Given the description of an element on the screen output the (x, y) to click on. 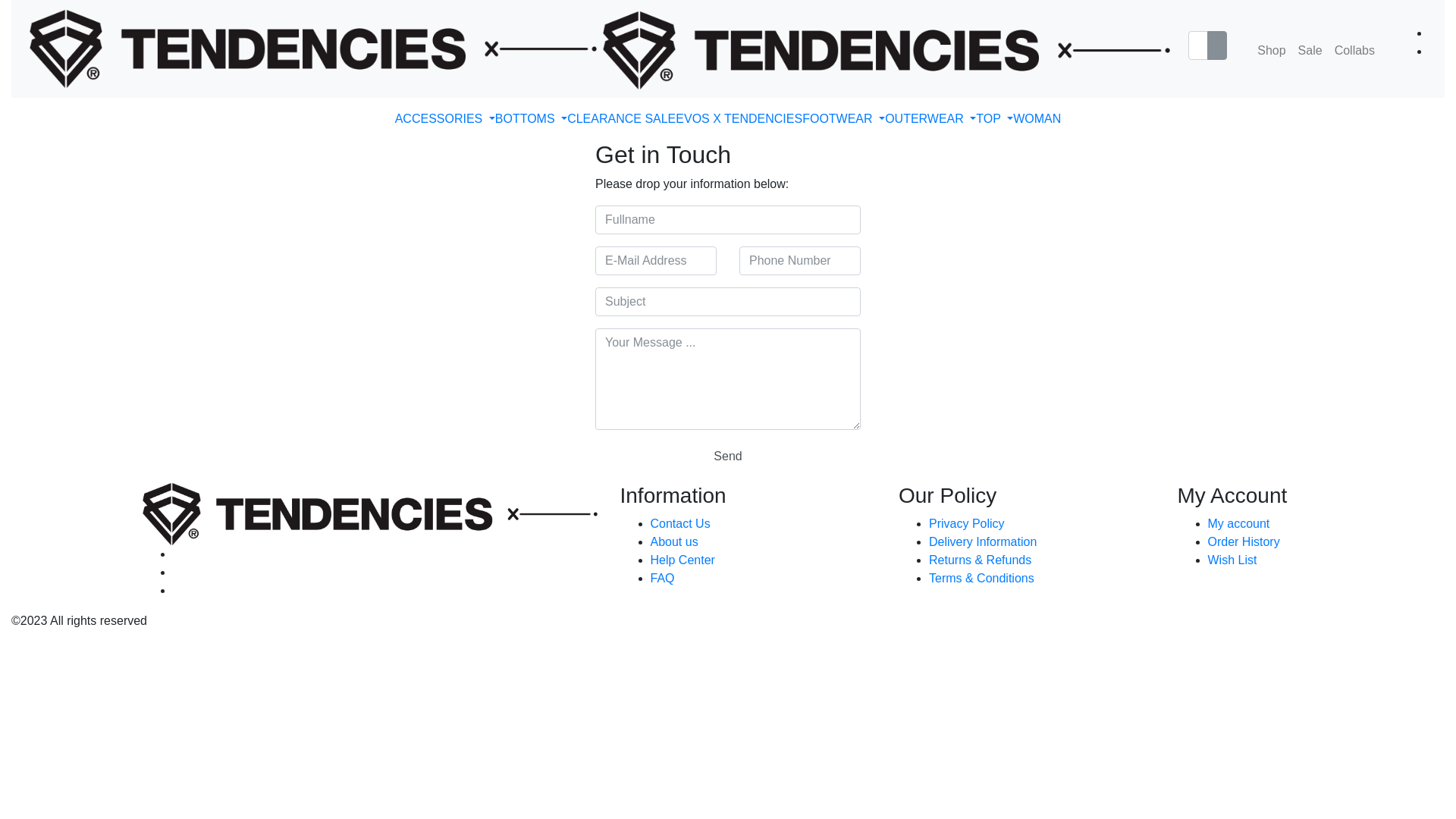
TOP Element type: text (994, 118)
Help Center Element type: text (682, 559)
Terms & Conditions Element type: text (981, 577)
ACCESSORIES Element type: text (445, 118)
About us Element type: text (674, 541)
OUTERWEAR Element type: text (929, 118)
CLEARANCE SALE Element type: text (621, 118)
Privacy Policy Element type: text (966, 523)
Shop Element type: text (1271, 50)
Contact Us Element type: text (680, 523)
FAQ Element type: text (662, 577)
Sale Element type: text (1310, 50)
Delivery Information Element type: text (982, 541)
Collabs Element type: text (1354, 50)
Returns & Refunds Element type: text (979, 559)
Send Element type: text (727, 456)
EVOS X TENDENCIES Element type: text (738, 118)
WOMAN Element type: text (1036, 118)
Wish List Element type: text (1231, 559)
My account Element type: text (1238, 523)
Order History Element type: text (1243, 541)
FOOTWEAR Element type: text (843, 118)
BOTTOMS Element type: text (531, 118)
